Given the description of an element on the screen output the (x, y) to click on. 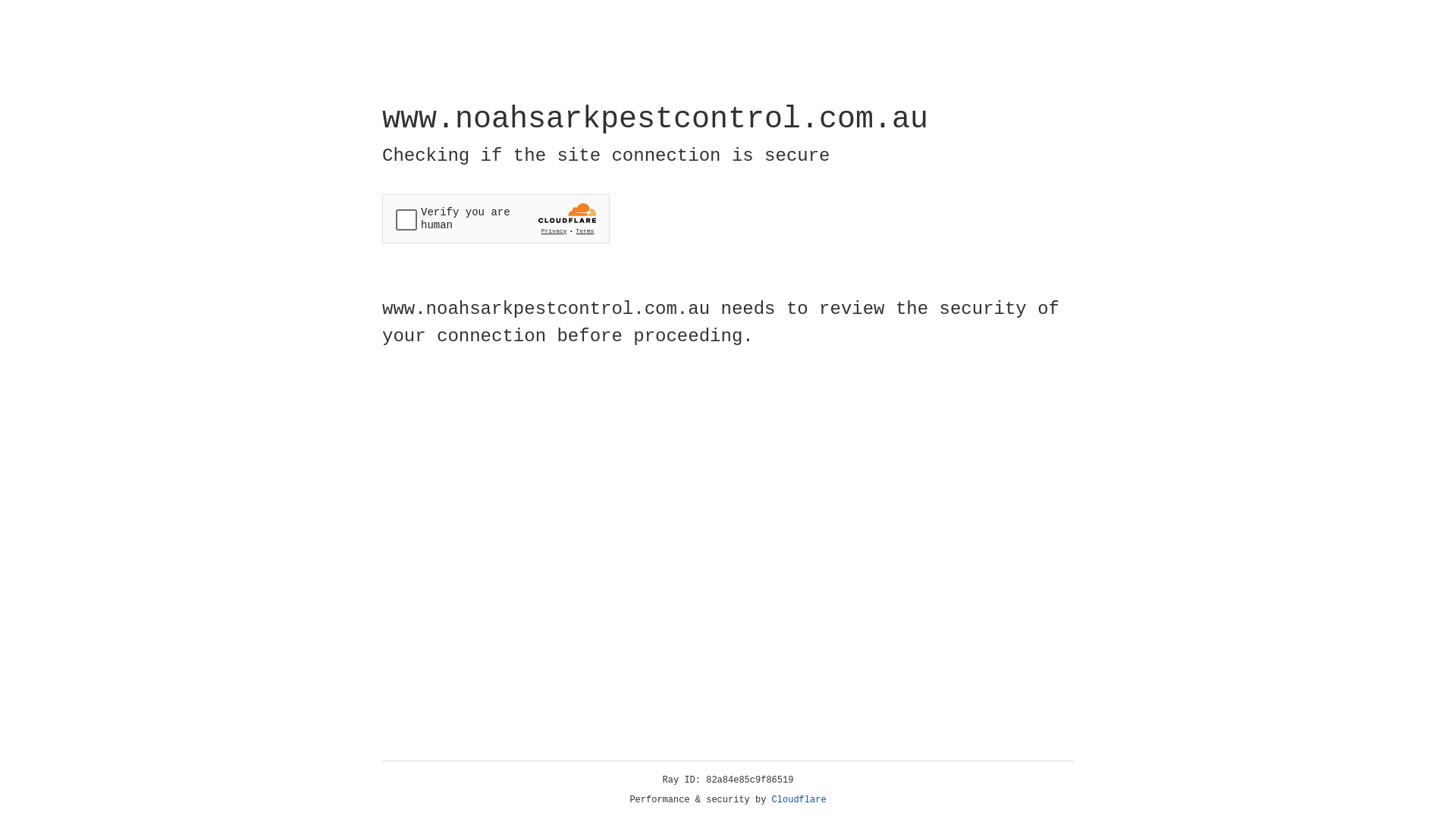
Widget containing a Cloudflare security challenge Element type: hover (495, 218)
Cloudflare Element type: text (798, 799)
